Given the description of an element on the screen output the (x, y) to click on. 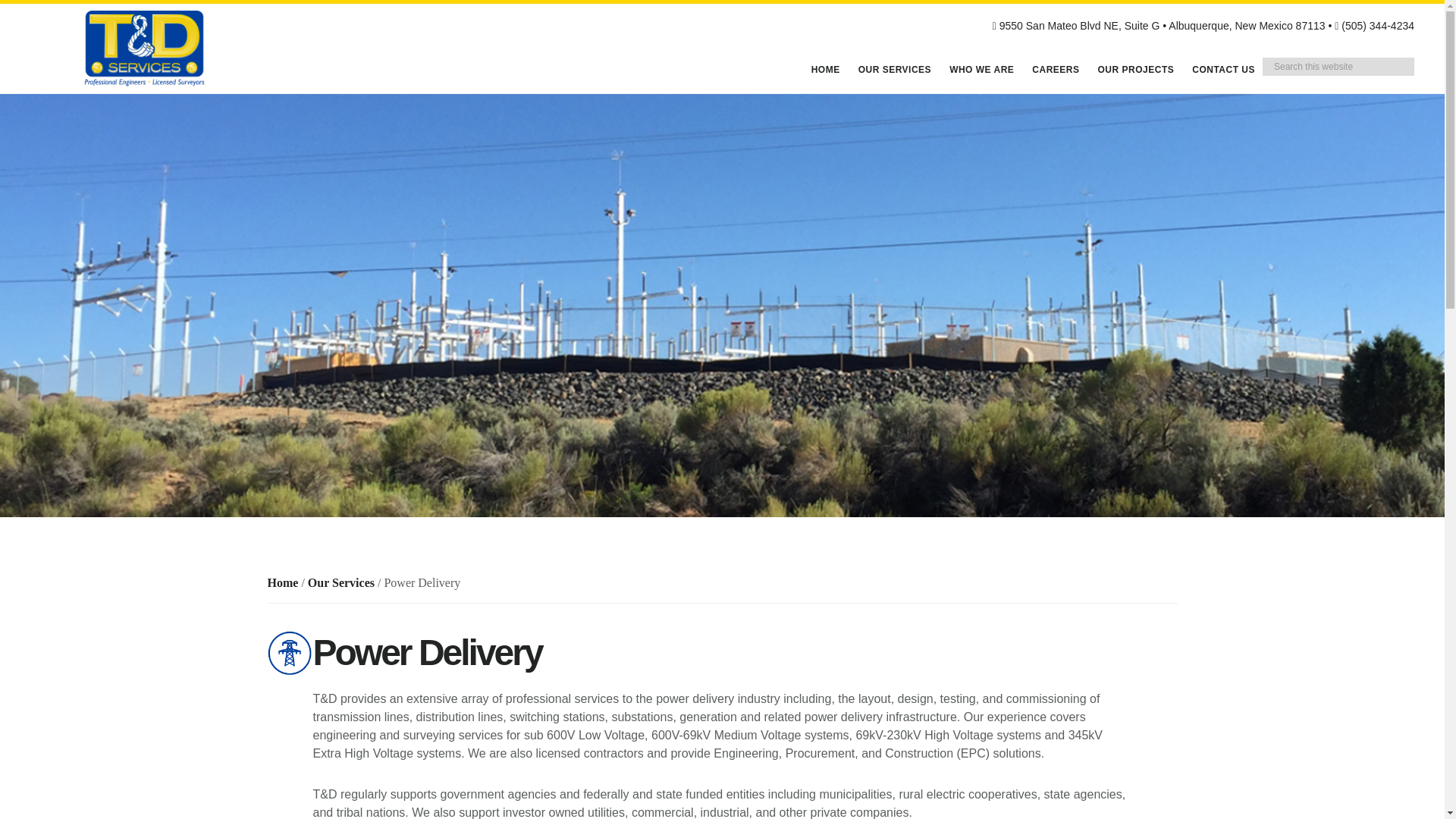
OUR SERVICES (894, 69)
WHO WE ARE (982, 69)
CONTACT US (1223, 69)
Search (1428, 64)
CAREERS (1055, 69)
Home (282, 582)
HOME (825, 69)
Search (1428, 64)
Our Services (340, 582)
OUR PROJECTS (1136, 69)
Search (1428, 64)
